Given the description of an element on the screen output the (x, y) to click on. 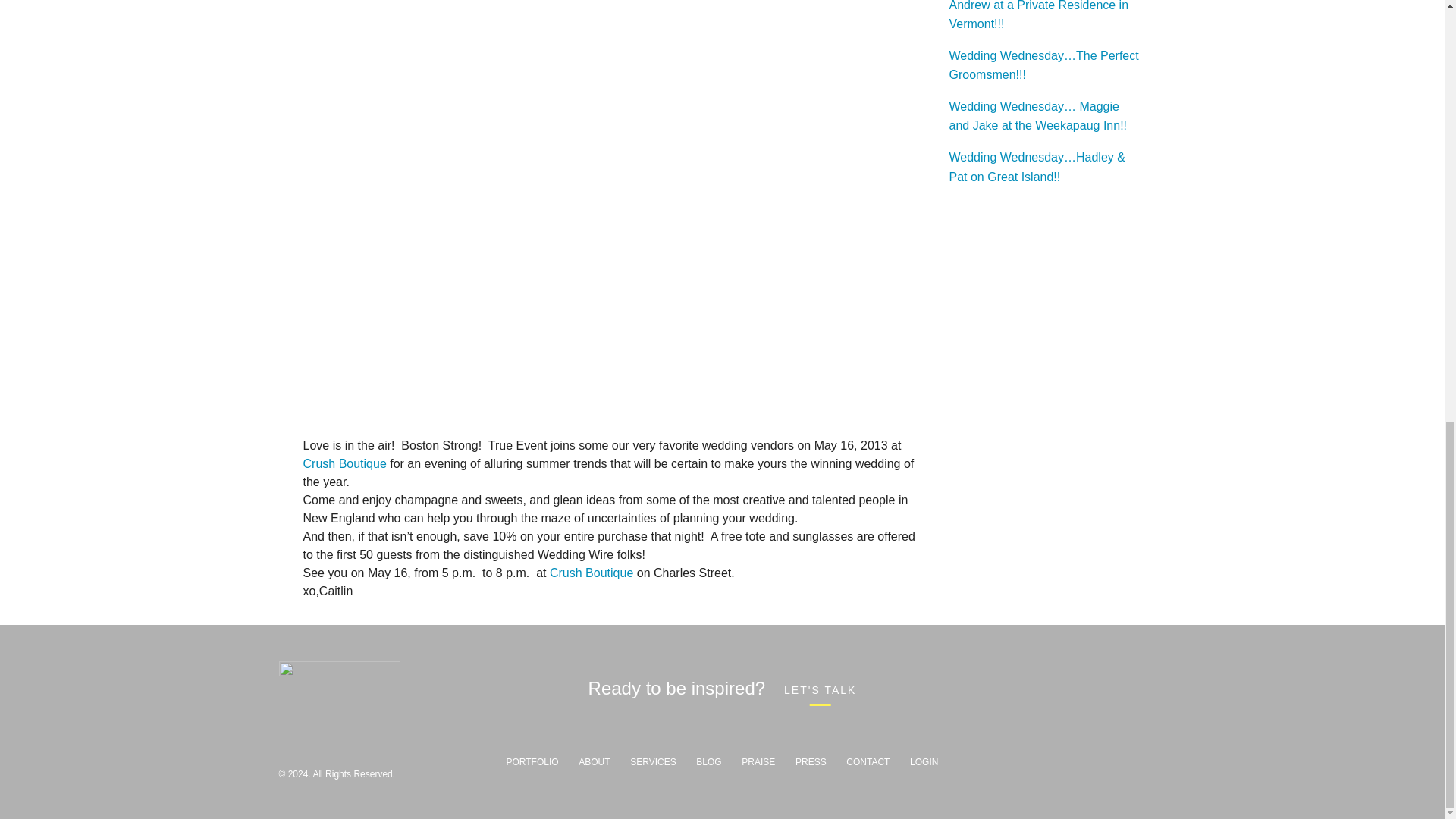
PRAISE (757, 760)
PRESS (810, 760)
ABOUT (594, 760)
CONTACT (867, 760)
Crush Boutique  (346, 463)
Crush Boutique (591, 572)
BLOG (707, 760)
LET'S TALK (820, 688)
SERVICES (652, 760)
PORTFOLIO (532, 760)
